Given the description of an element on the screen output the (x, y) to click on. 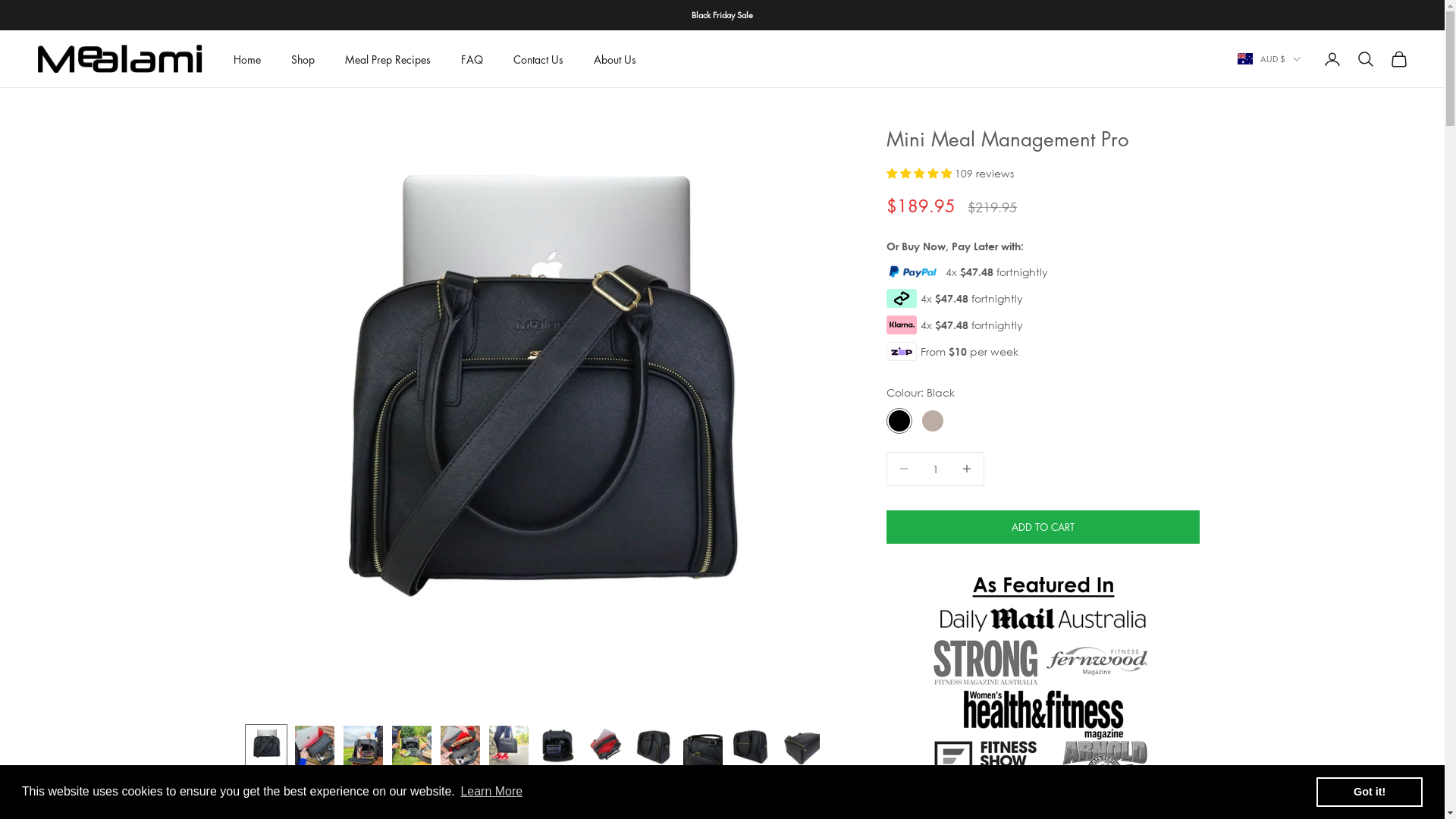
Mealami Element type: text (119, 58)
Decrease quantity Element type: text (966, 468)
Home Element type: text (246, 59)
AUD $ Element type: text (1268, 58)
4x $47.48 fortnightly Element type: text (966, 271)
ADD TO CART Element type: text (1042, 526)
Got it! Element type: text (1369, 791)
Open account page Element type: text (1332, 59)
Contact Us Element type: text (538, 59)
4x $47.48 fortnightly Element type: text (966, 324)
About Us Element type: text (614, 59)
Learn More Element type: text (491, 791)
Meal Prep Recipes Element type: text (387, 59)
Open cart Element type: text (1399, 59)
Open search Element type: text (1365, 59)
FAQ Element type: text (472, 59)
Decrease quantity Element type: text (903, 468)
From $10 per week Element type: text (966, 351)
4x $47.48 fortnightly Element type: text (966, 297)
